Given the description of an element on the screen output the (x, y) to click on. 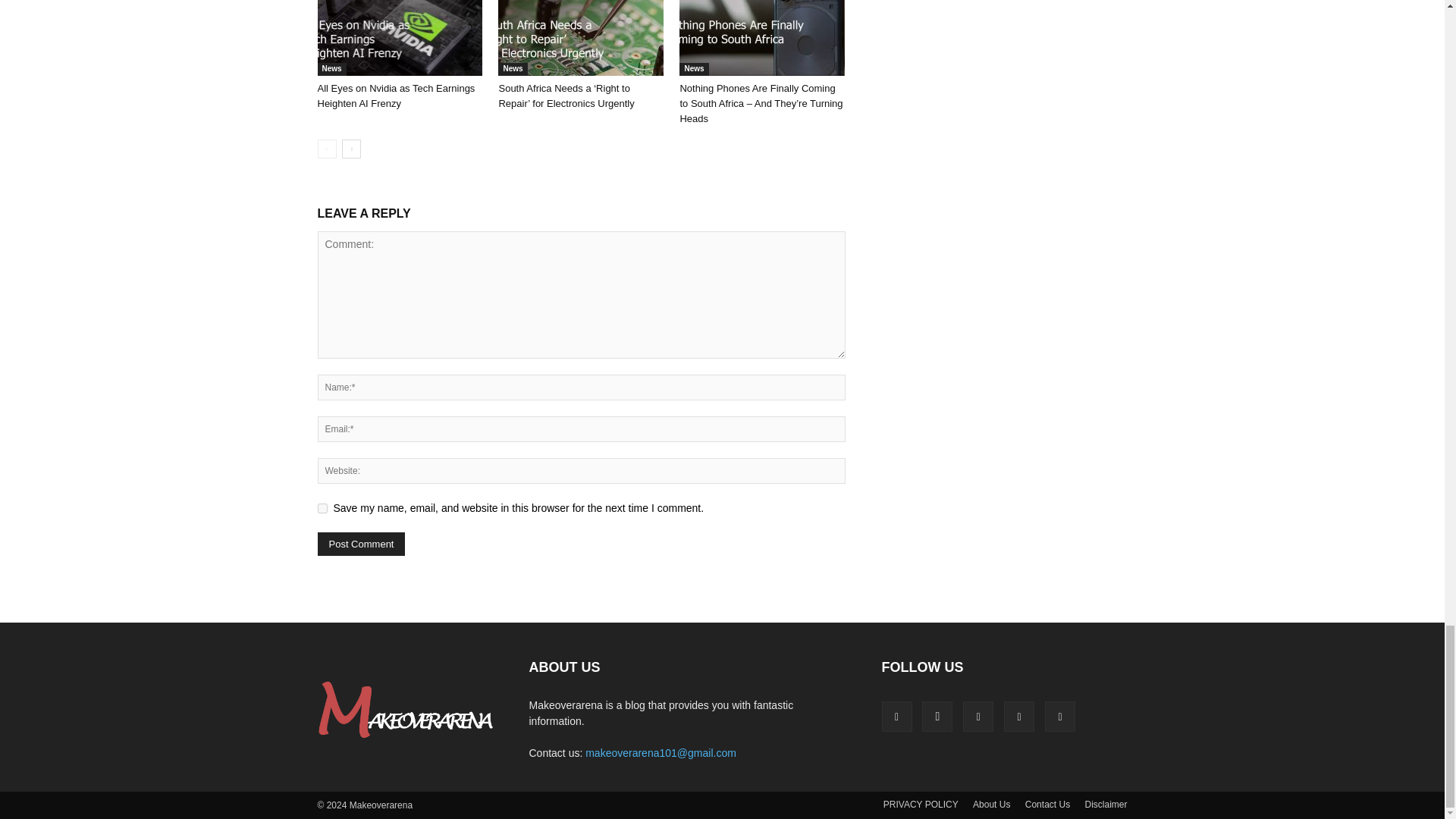
yes (321, 508)
All Eyes on Nvidia as Tech Earnings Heighten AI Frenzy (399, 38)
Post Comment (360, 544)
